Given the description of an element on the screen output the (x, y) to click on. 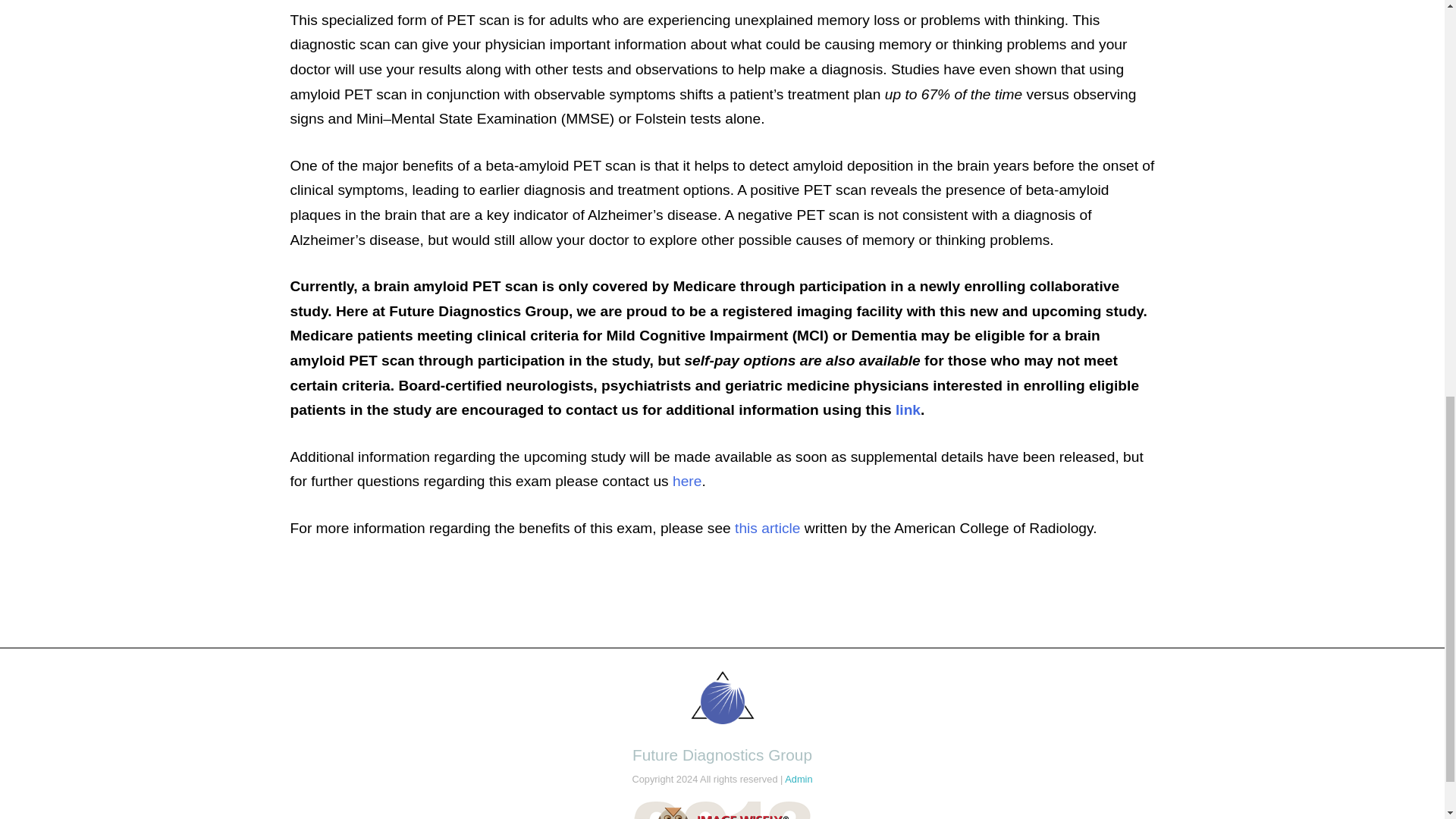
here (686, 480)
this article (767, 528)
link (907, 409)
Admin (798, 778)
